Given the description of an element on the screen output the (x, y) to click on. 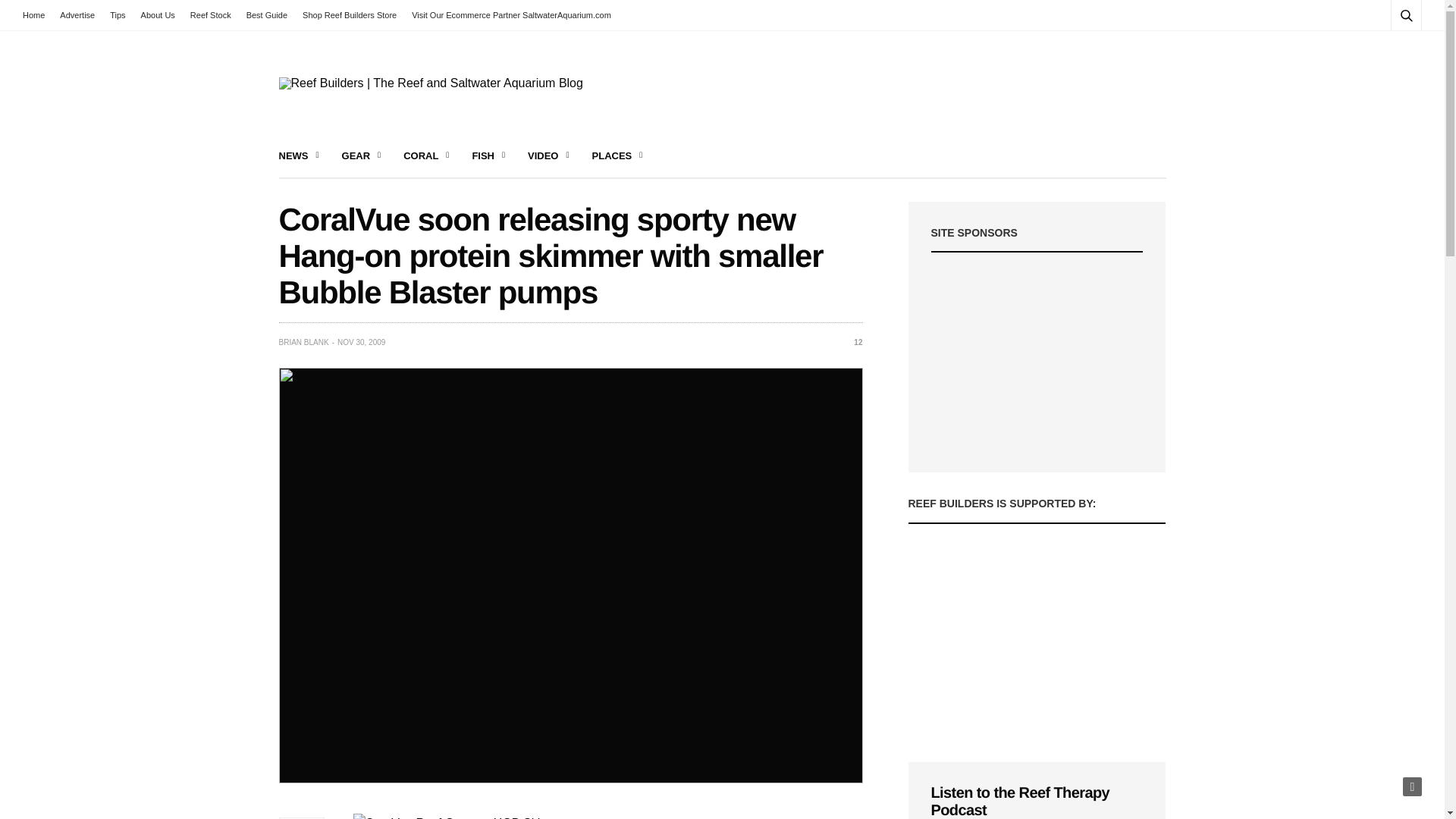
About Us (158, 15)
Posts by Brian Blank (304, 342)
Visit Our Ecommerce Partner SaltwaterAquarium.com (511, 15)
Search (1386, 51)
Advertise (76, 15)
Best Guide (266, 15)
GEAR (361, 156)
Shop Reef Builders Store (349, 15)
Reef Stock (210, 15)
NEWS (298, 156)
Tips (116, 15)
Home (37, 15)
